Given the description of an element on the screen output the (x, y) to click on. 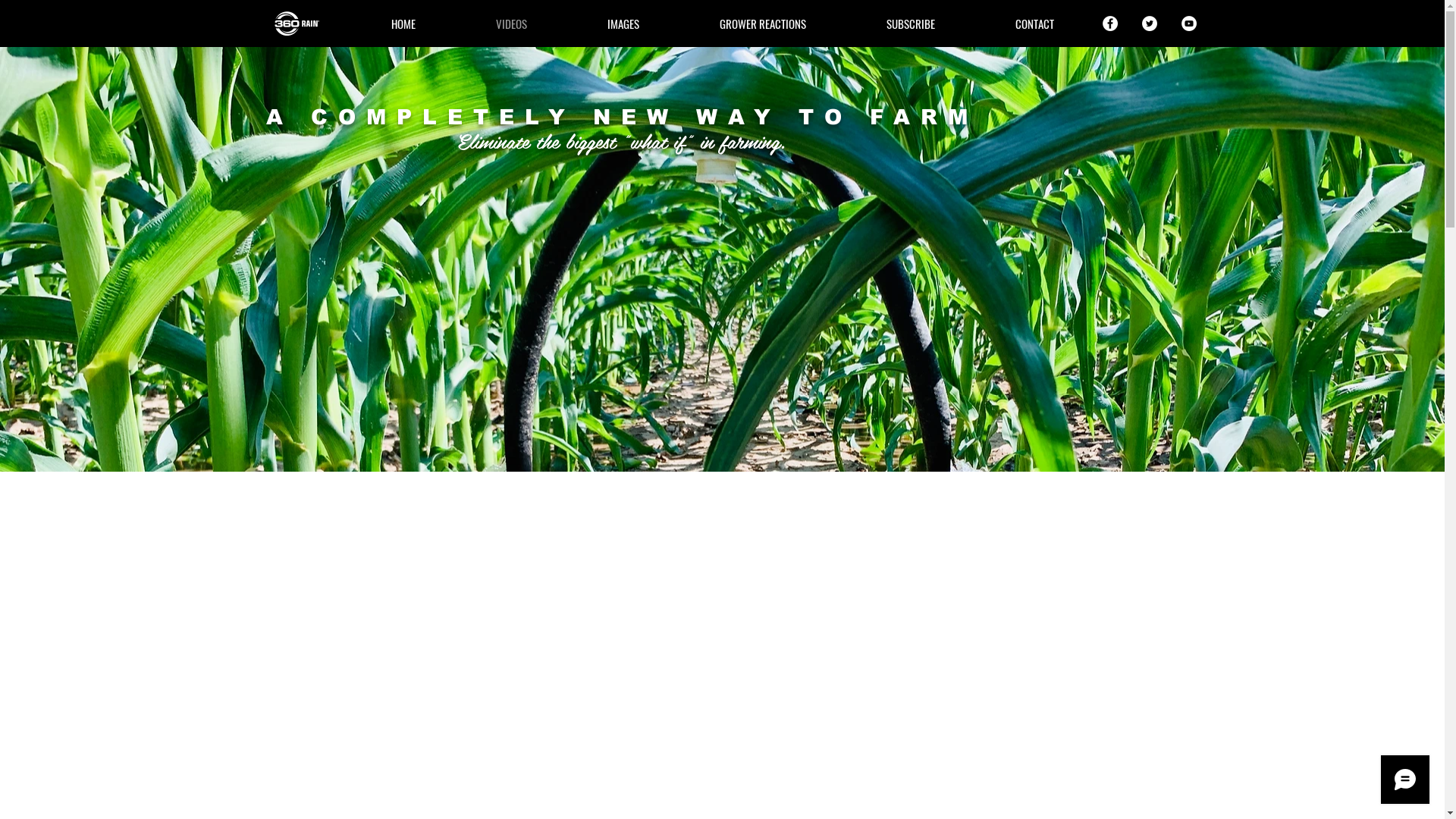
SUBSCRIBE Element type: text (910, 23)
HOME Element type: text (402, 23)
GROWER REACTIONS Element type: text (762, 23)
IMAGES Element type: text (623, 23)
VIDEOS Element type: text (510, 23)
CONTACT Element type: text (1034, 23)
